Given the description of an element on the screen output the (x, y) to click on. 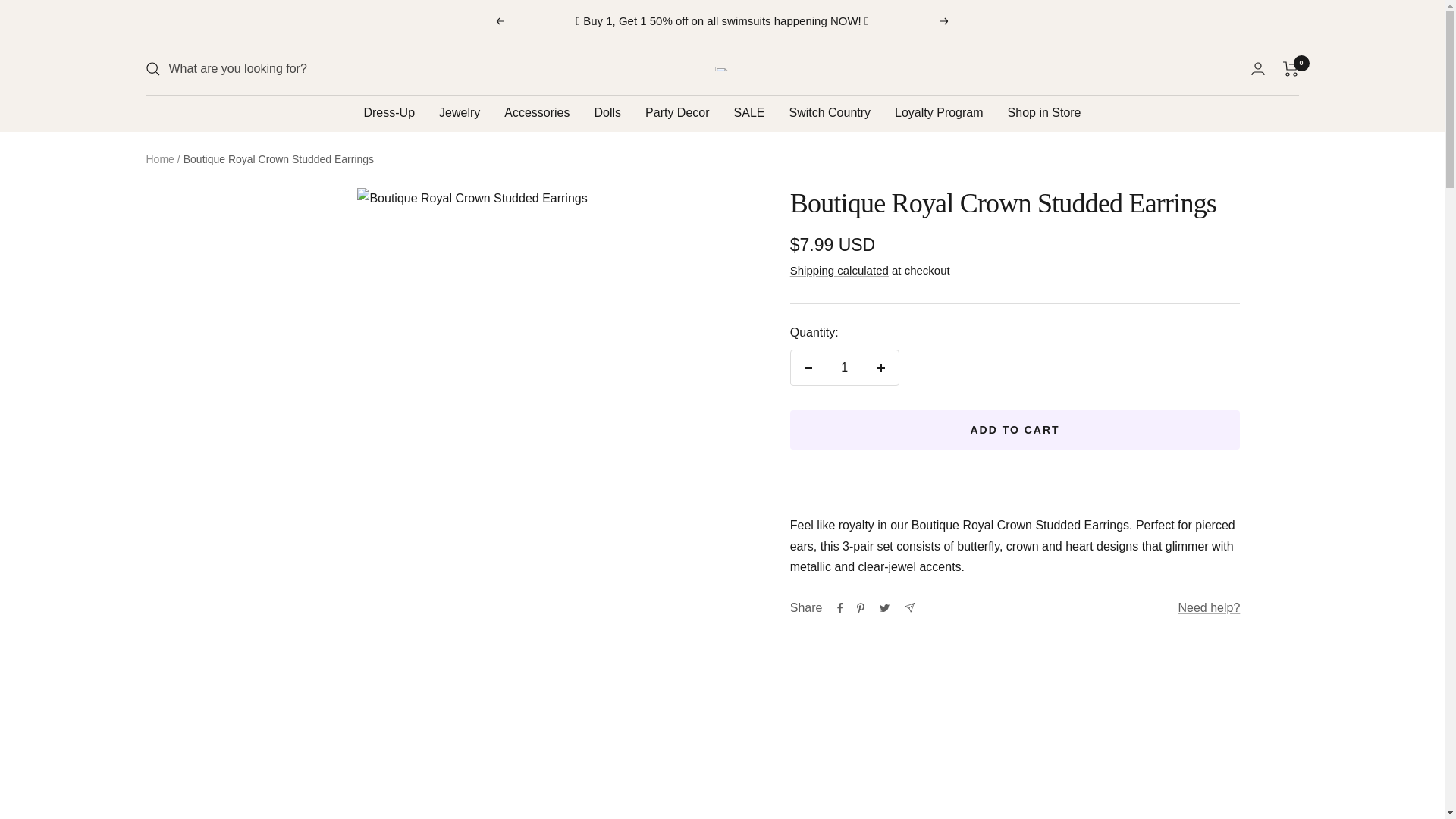
1 (844, 367)
Great Pretenders USA (721, 68)
SALE (749, 113)
Accessories (536, 113)
Jewelry (459, 113)
Switch Country (829, 113)
Shop in Store (1044, 113)
Loyalty Program (939, 113)
Dress-Up (388, 113)
Next (944, 21)
